Given the description of an element on the screen output the (x, y) to click on. 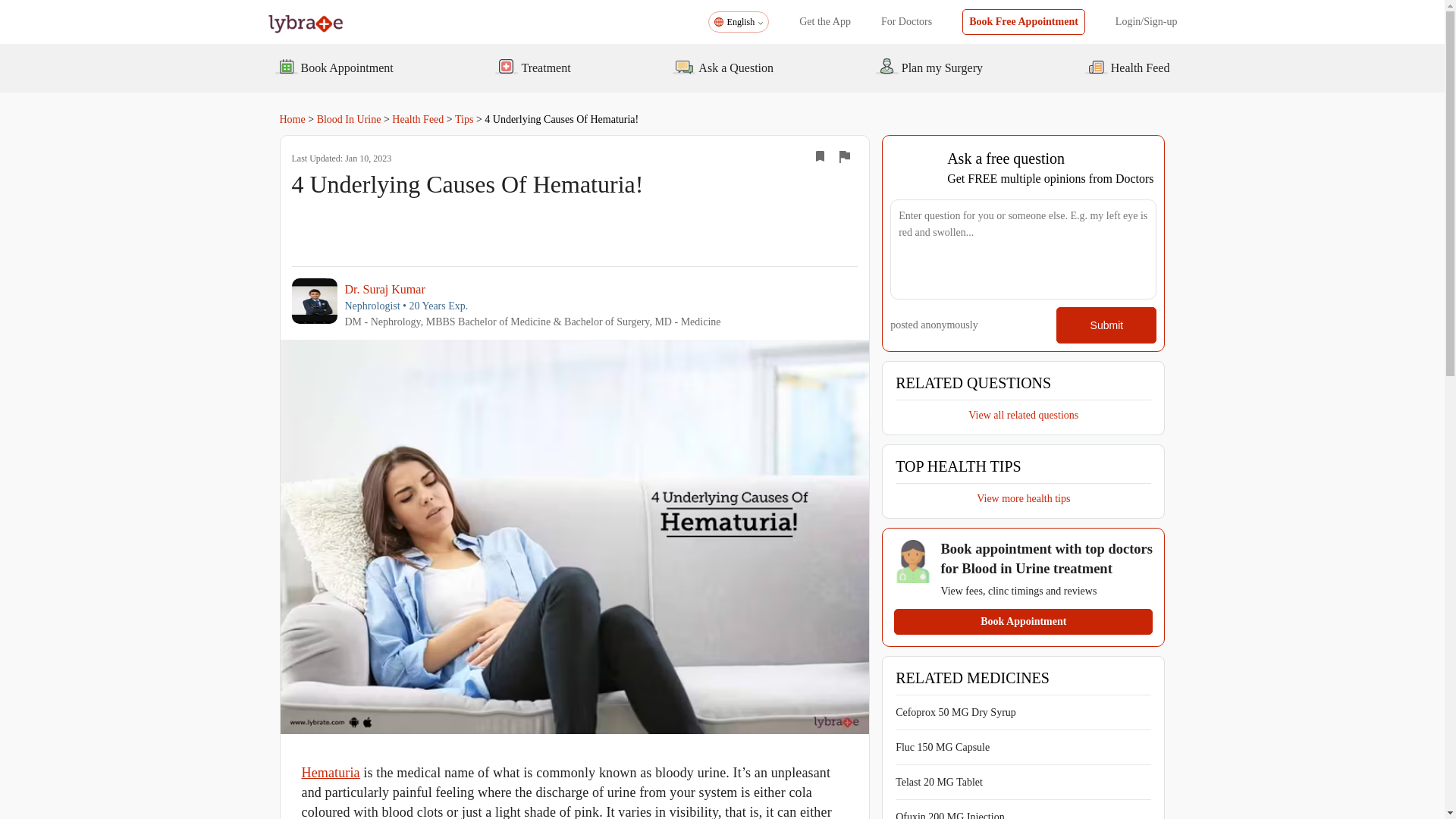
Ofuxin 200 MG Injection (949, 815)
View all related questions (1023, 412)
Fluc 150 MG Capsule (942, 747)
Health Feed (417, 119)
View more health tips (1023, 496)
Book Appointment (1023, 621)
Home (291, 119)
Hematuria (330, 772)
Ask a Question (722, 67)
Plan my Surgery (928, 67)
Health Feed (1127, 67)
Submit (1106, 325)
Cefoprox 50 MG Dry Syrup (955, 712)
Book Free Appointment (1023, 22)
Dr. Suraj Kumar (531, 288)
